Given the description of an element on the screen output the (x, y) to click on. 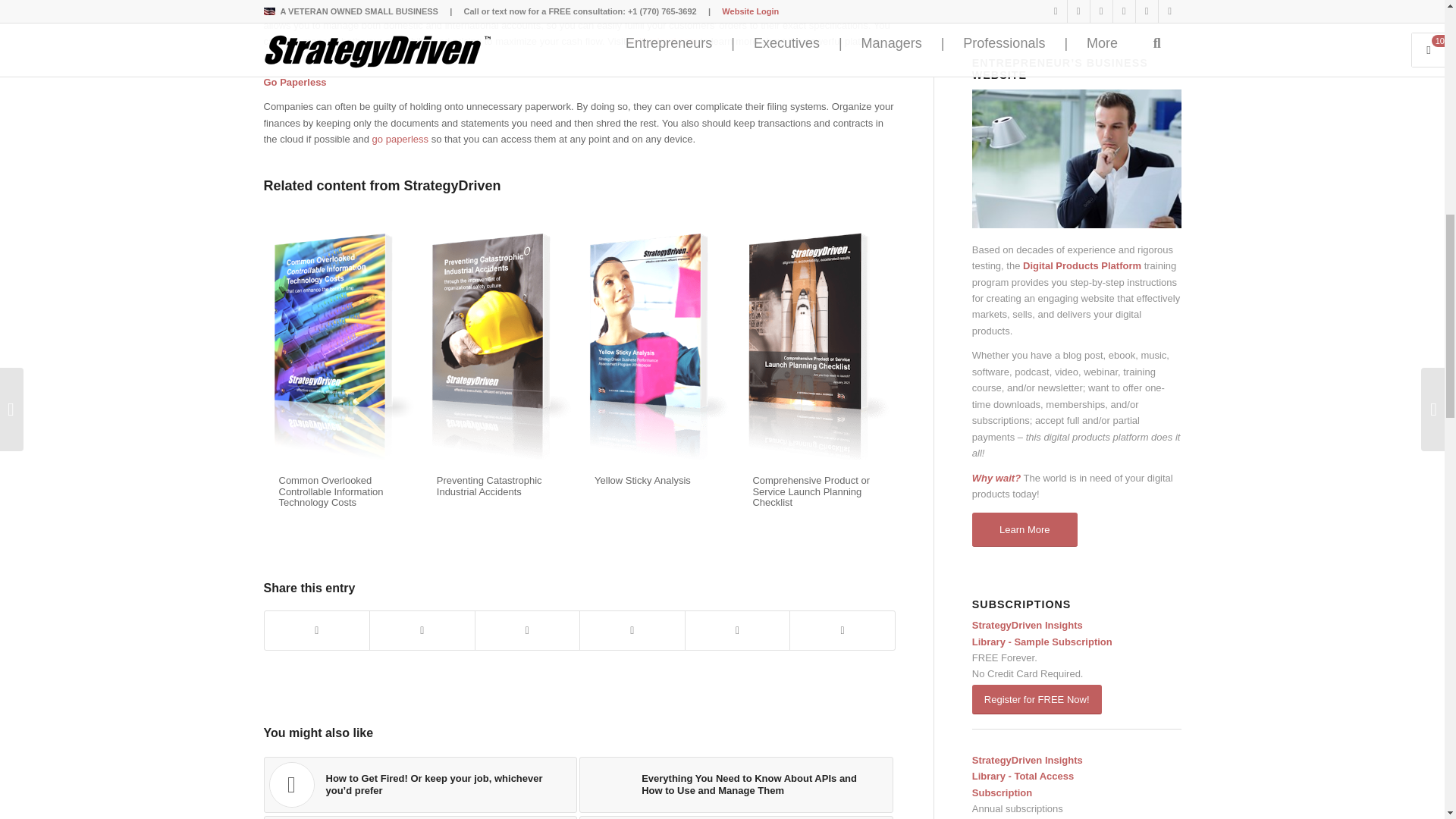
Common Overlooked Controllable Information Technology Costs (331, 491)
Yellow Sticky Analysis (642, 480)
Preventing Catastrophic Industrial Accidents (488, 485)
